Given the description of an element on the screen output the (x, y) to click on. 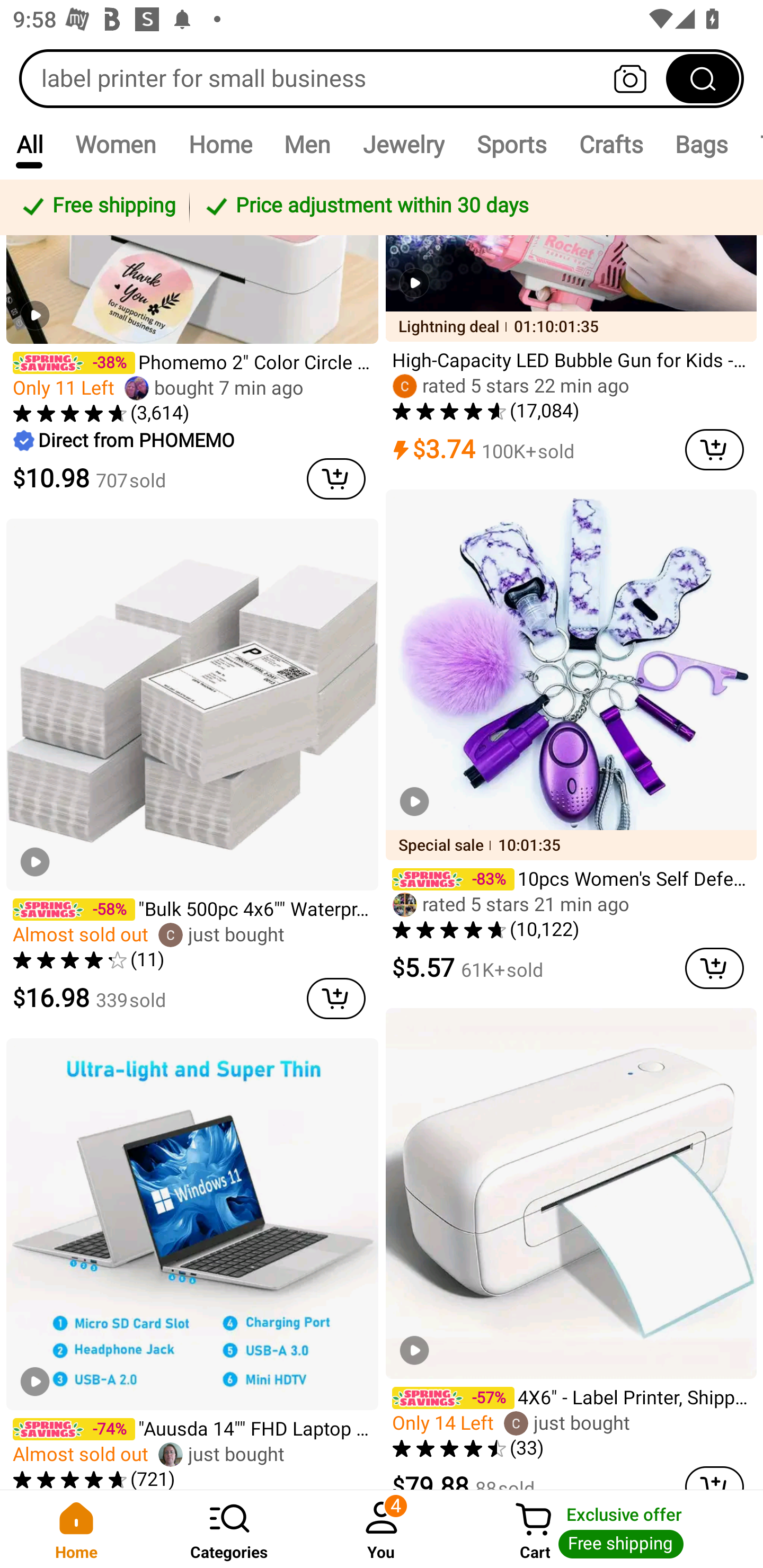
label printer for small business (381, 78)
All (29, 144)
Women (115, 144)
Home (219, 144)
Men (306, 144)
Jewelry (403, 144)
Sports (511, 144)
Crafts (611, 144)
Bags (701, 144)
Free shipping (97, 206)
Price adjustment within 30 days (472, 206)
cart delete (714, 449)
cart delete (335, 478)
cart delete (714, 968)
cart delete (335, 998)
cart delete (714, 1477)
Home (76, 1528)
Categories (228, 1528)
You 4 You (381, 1528)
Cart Cart Exclusive offer (610, 1528)
